Given the description of an element on the screen output the (x, y) to click on. 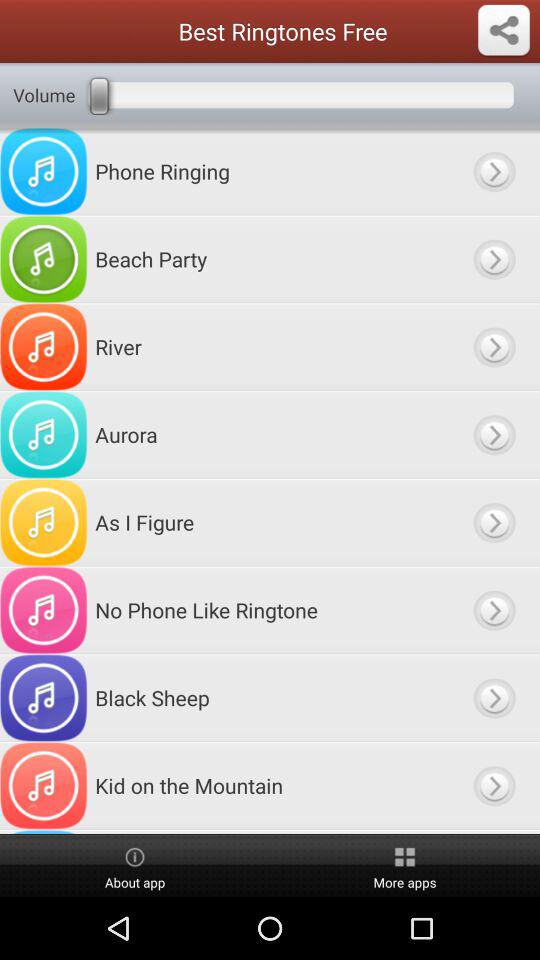
select the rington button (494, 610)
